Given the description of an element on the screen output the (x, y) to click on. 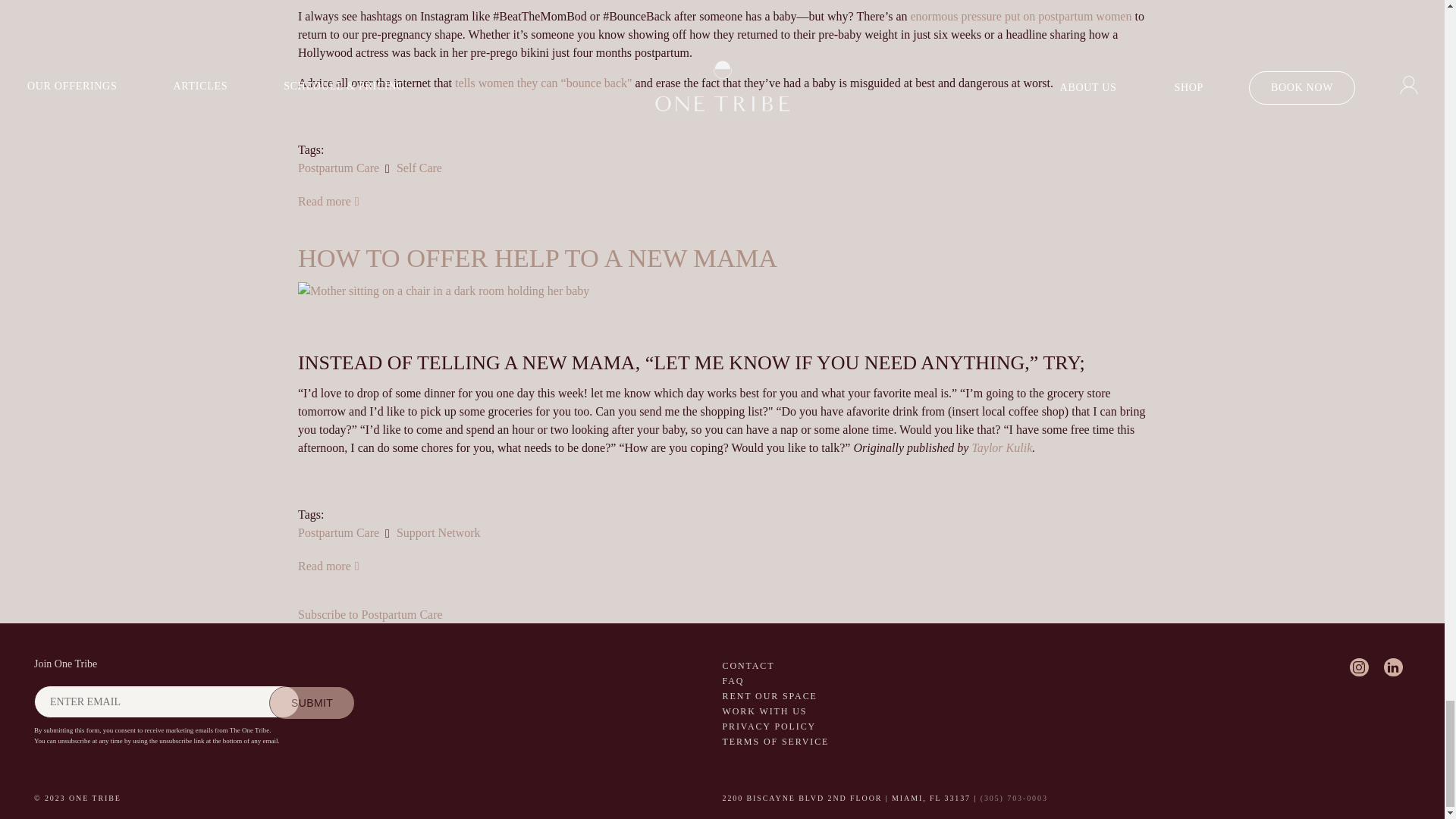
How to Offer Help to a New Mama (329, 565)
Submit (312, 702)
5 Powerful Ways to Embrace your Postpartum Body (329, 201)
